Given the description of an element on the screen output the (x, y) to click on. 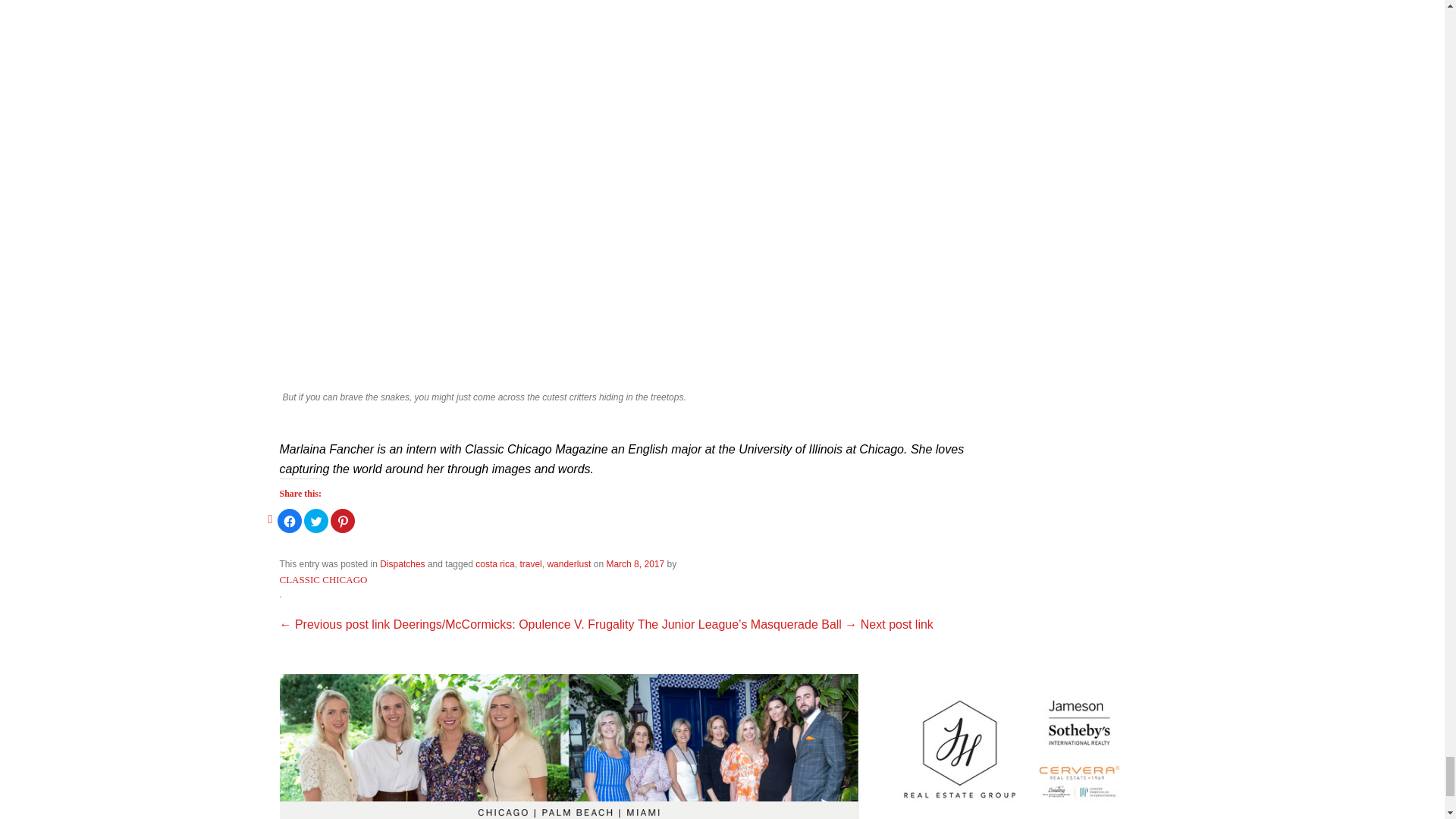
View all posts by Classic Chicago (322, 579)
Click to share on Twitter (316, 520)
Click to share on Pinterest (342, 520)
Click to share on Facebook (289, 520)
12:26 am (634, 563)
